Given the description of an element on the screen output the (x, y) to click on. 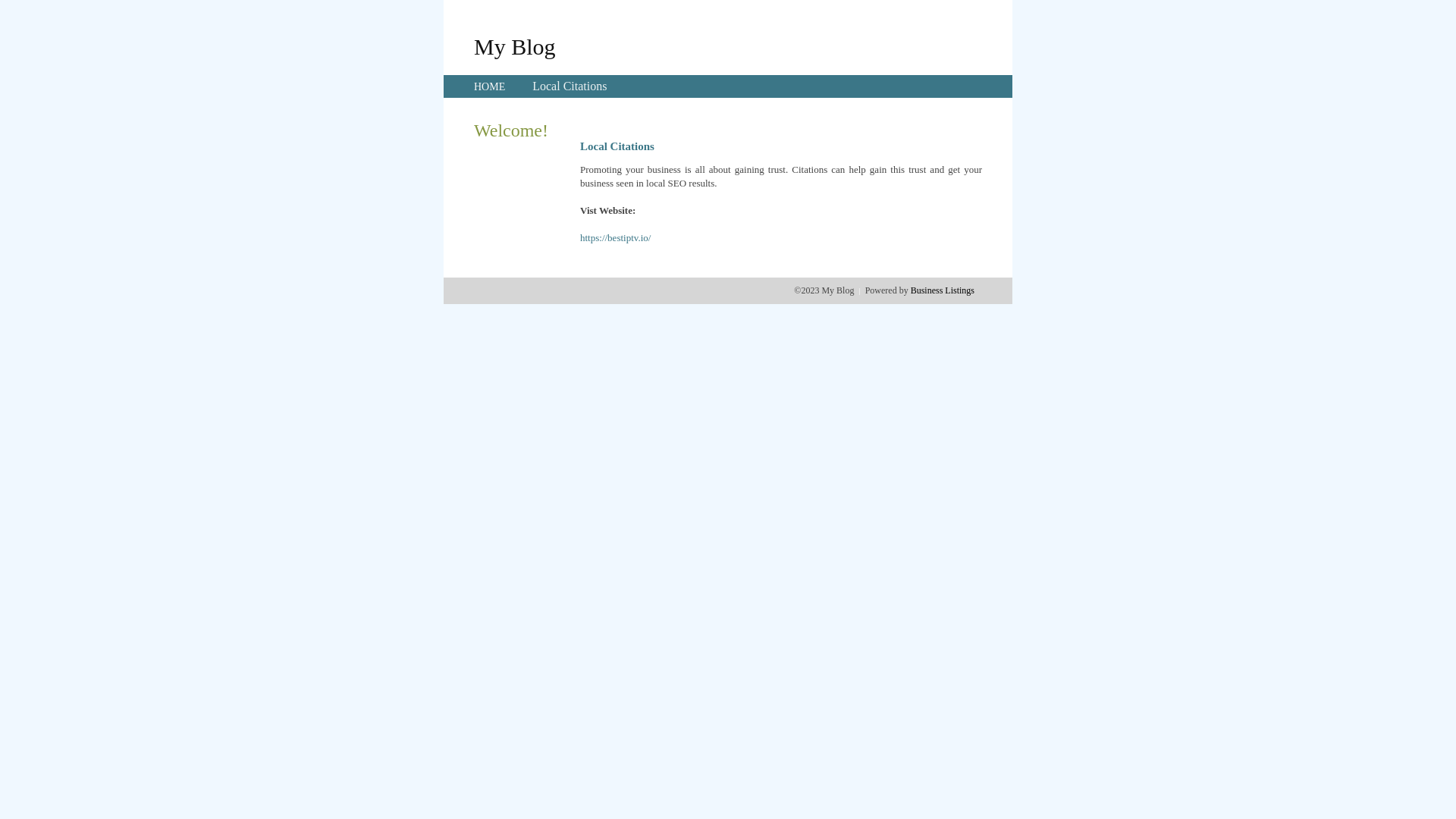
My Blog Element type: text (514, 46)
HOME Element type: text (489, 86)
Business Listings Element type: text (942, 290)
https://bestiptv.io/ Element type: text (615, 237)
Local Citations Element type: text (569, 85)
